Given the description of an element on the screen output the (x, y) to click on. 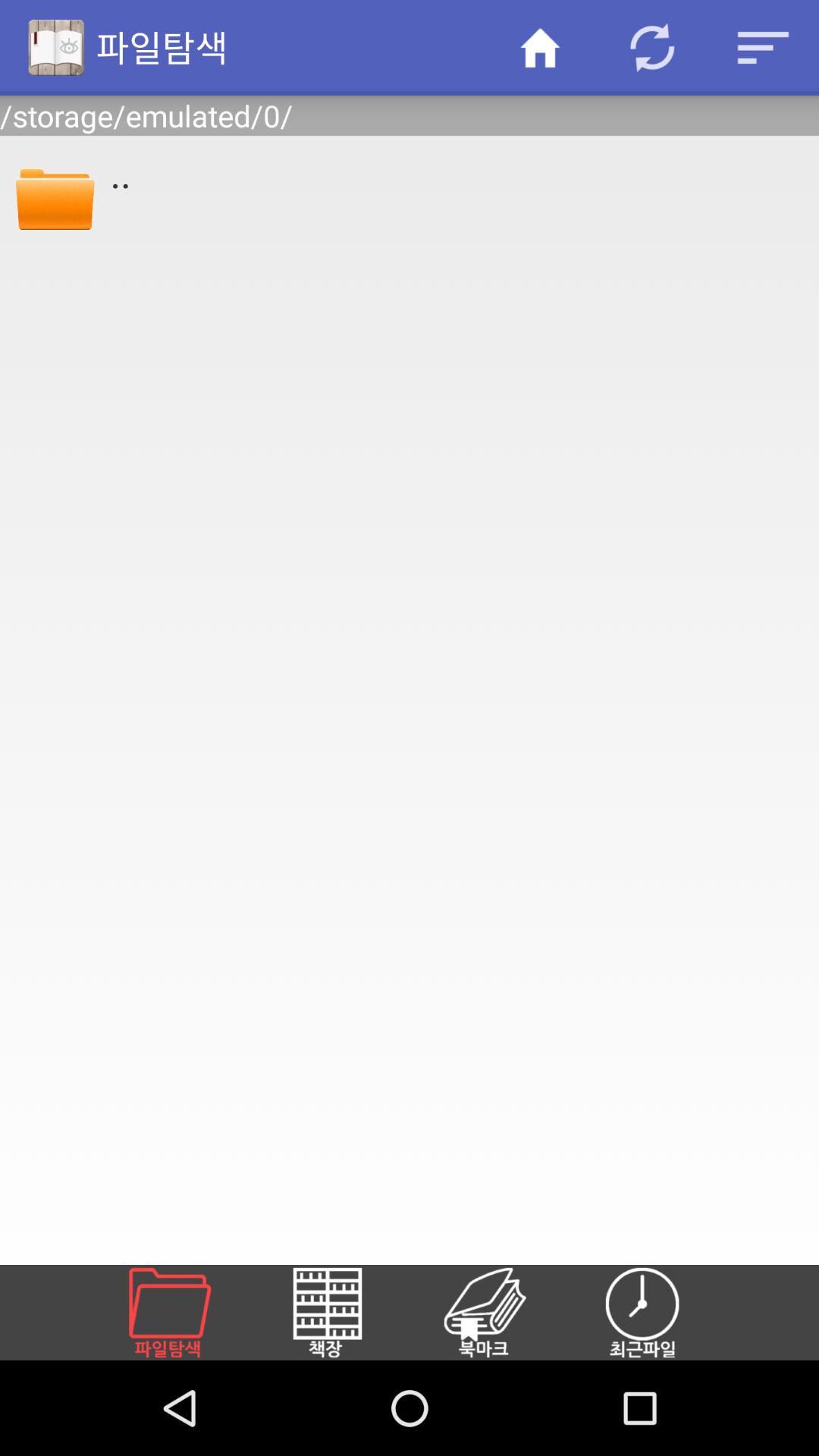
open content (502, 1312)
